Given the description of an element on the screen output the (x, y) to click on. 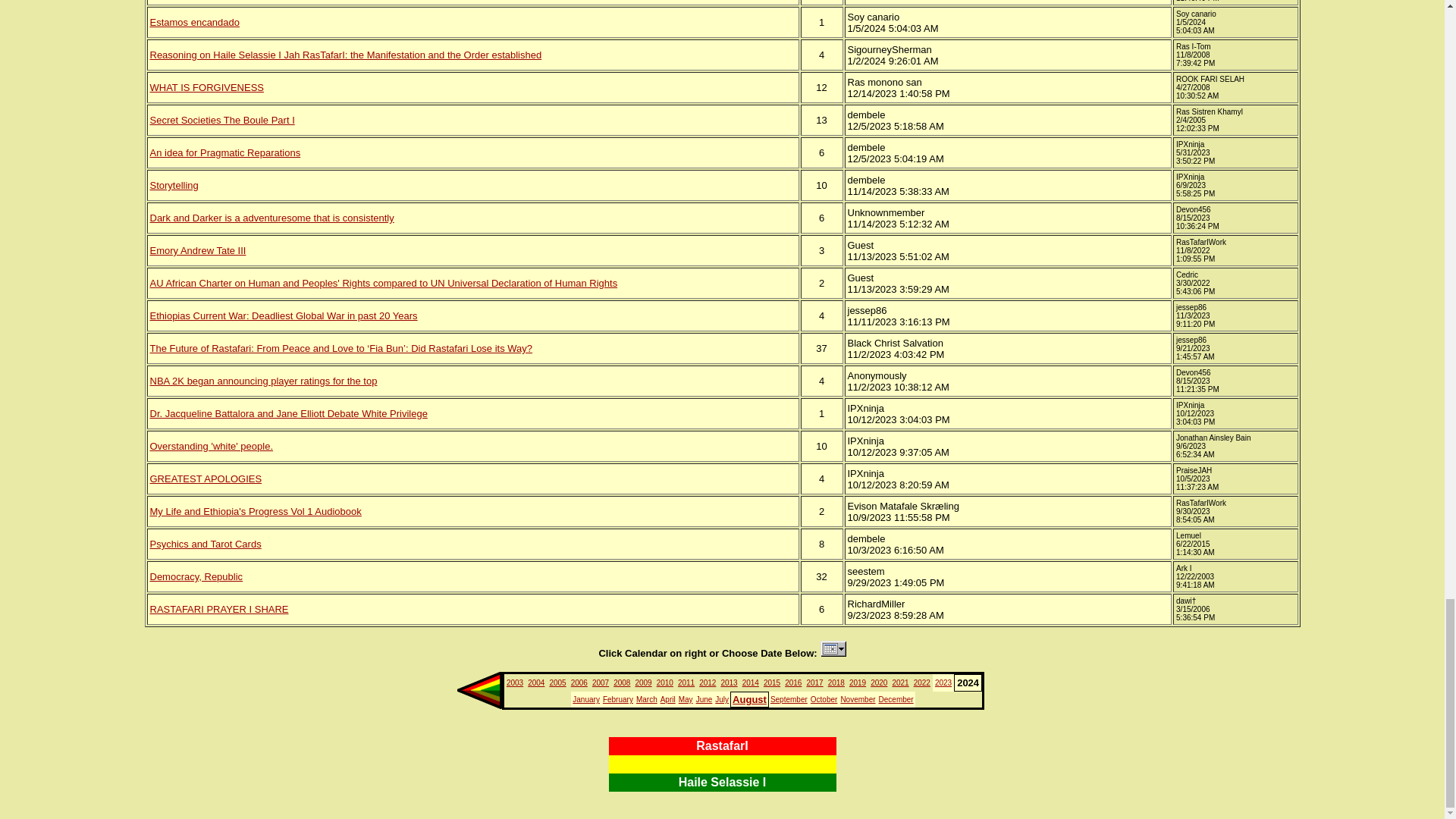
Older Reasonings (479, 690)
